Given the description of an element on the screen output the (x, y) to click on. 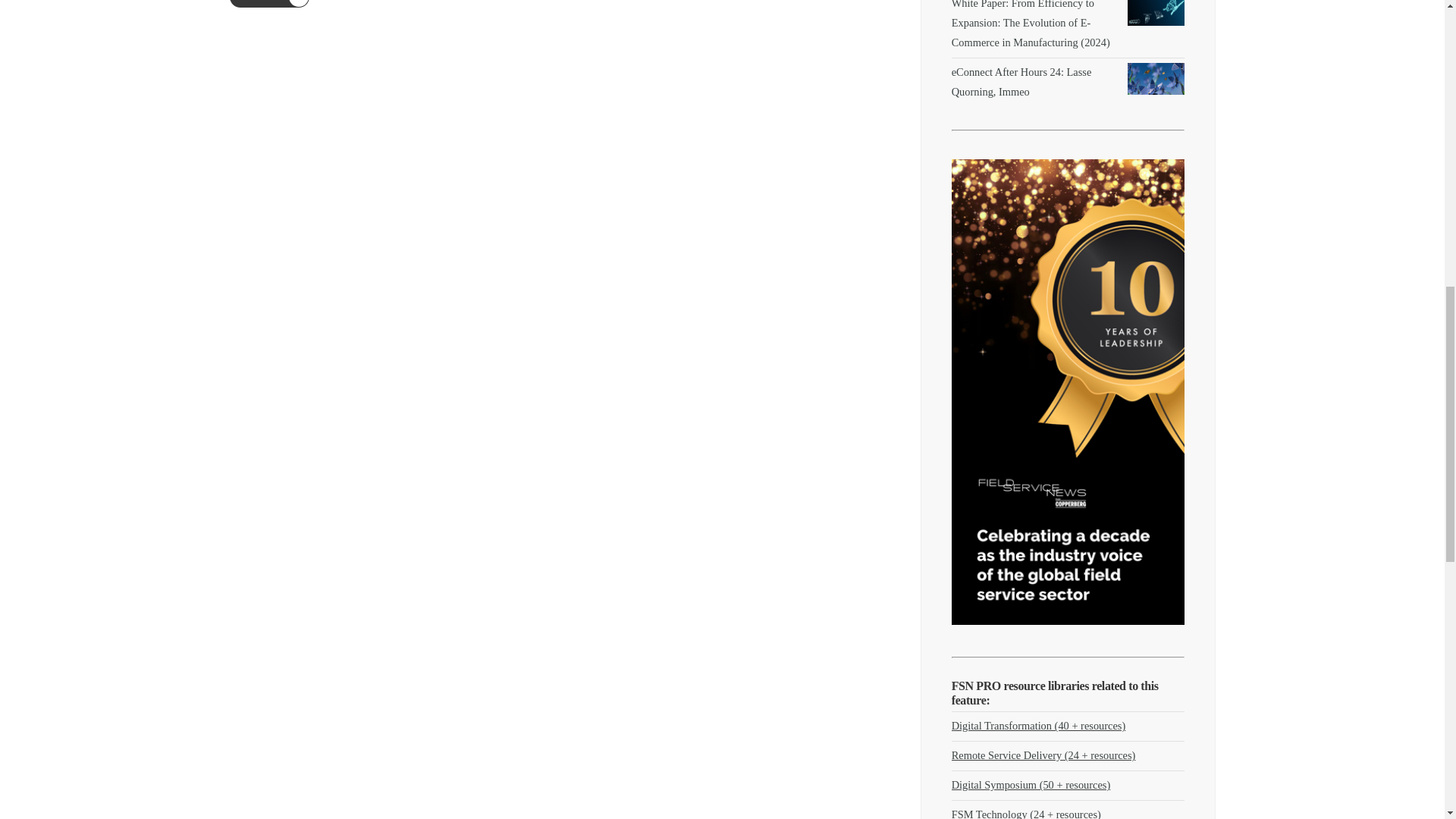
eConnect After Hours 24: Lasse Quorning, Immeo (1022, 81)
